Given the description of an element on the screen output the (x, y) to click on. 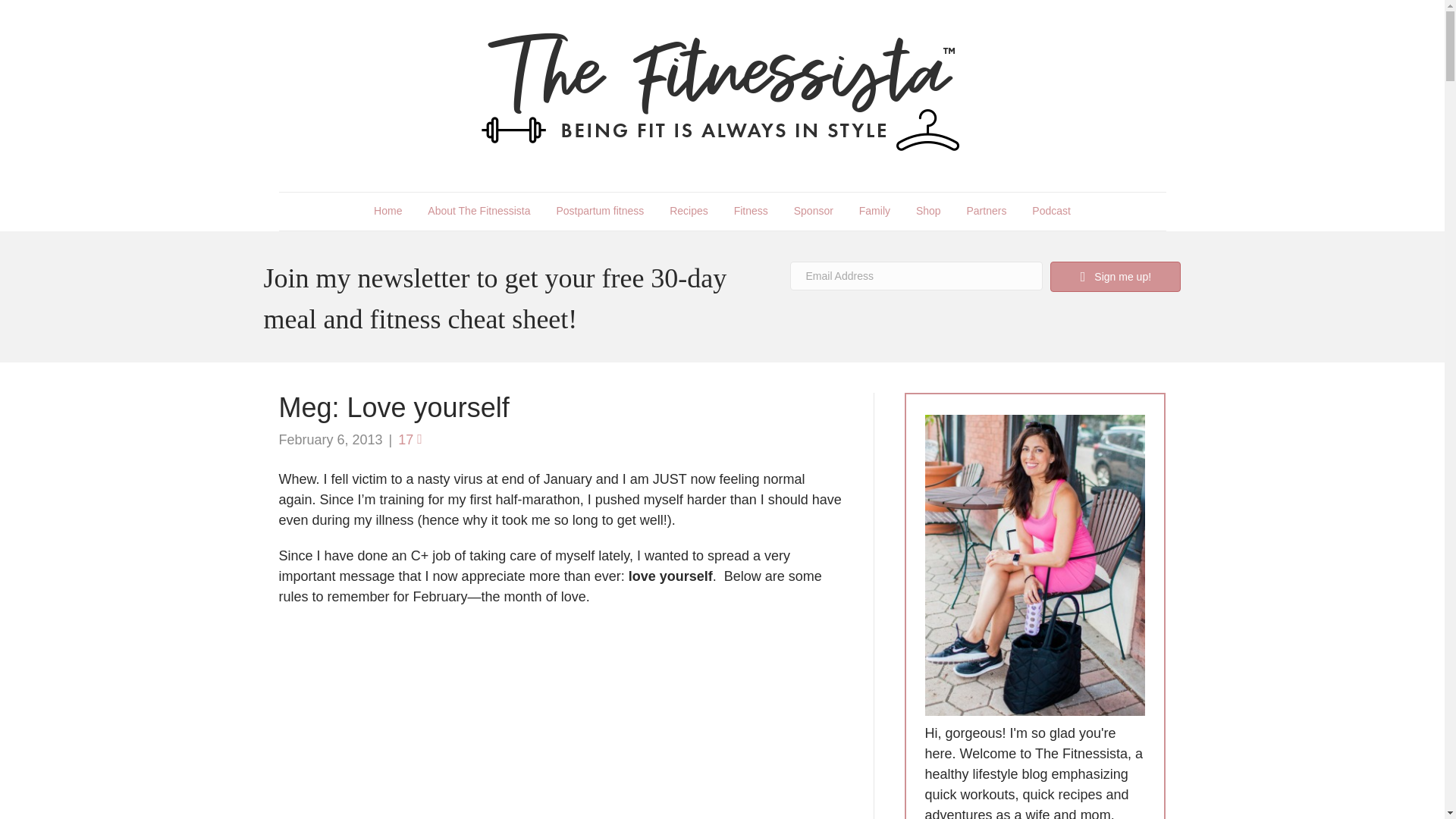
Home (387, 211)
